Given the description of an element on the screen output the (x, y) to click on. 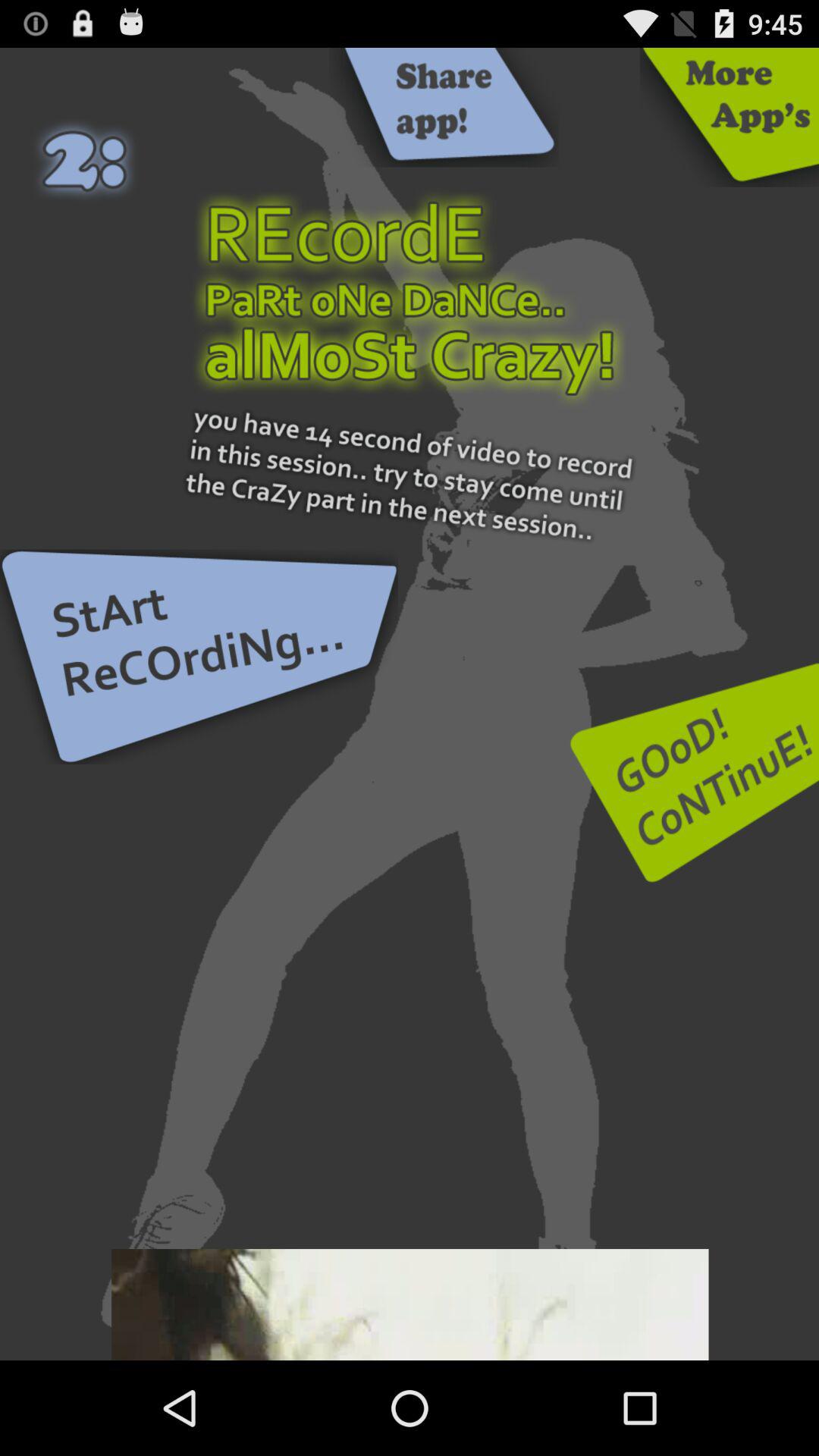
advertisement (443, 107)
